Given the description of an element on the screen output the (x, y) to click on. 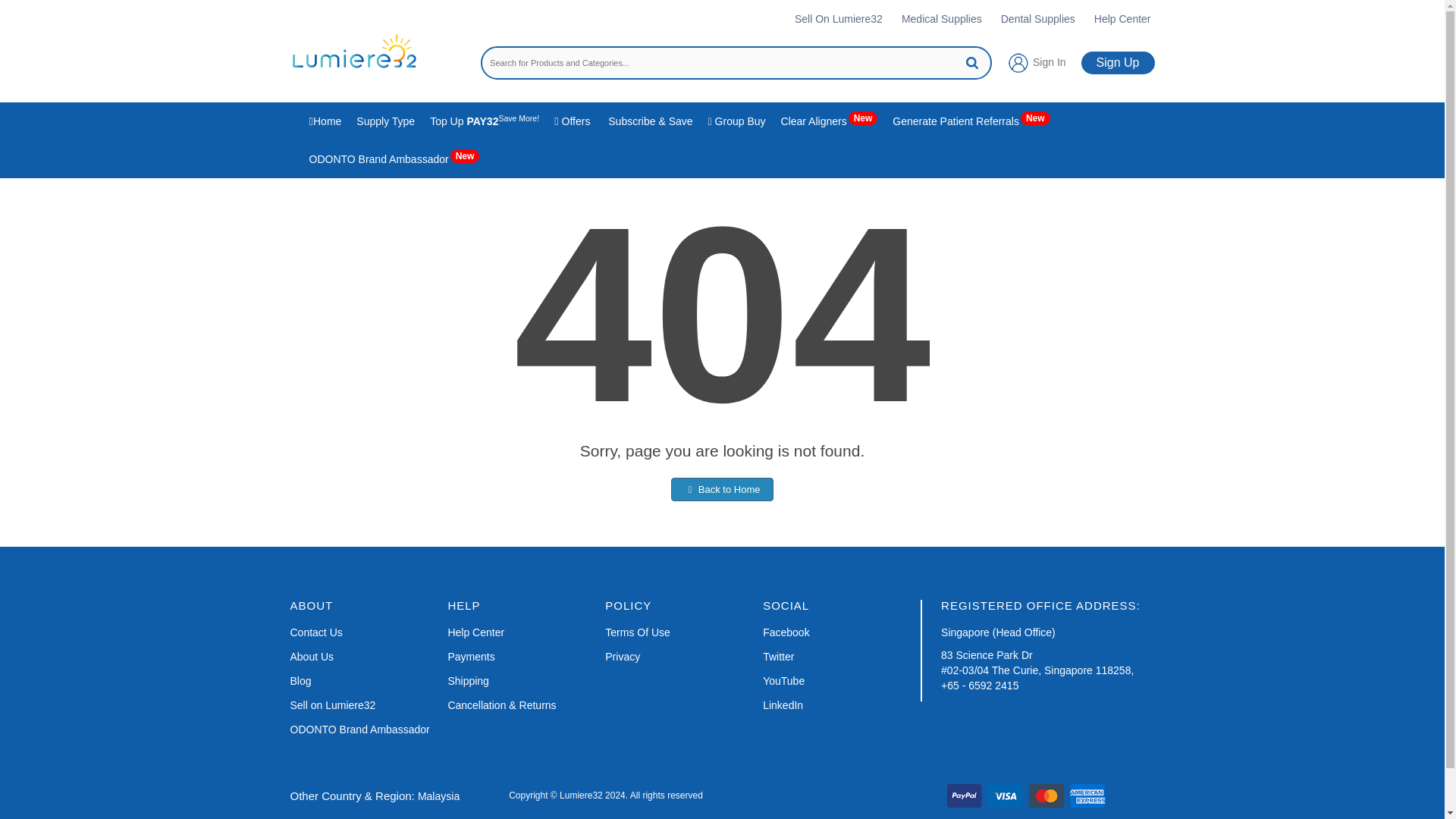
Clear AlignersNew (829, 121)
ODONTO Brand Ambassador (359, 729)
Top Up PAY32Save More! (484, 121)
Help Center (474, 632)
Home (325, 121)
Generate Patient ReferralsNew (971, 121)
 Offers (571, 121)
Back to Home (722, 489)
 Group Buy (736, 121)
Dental Supplies (1038, 18)
Medical Supplies (941, 18)
Sell on Lumiere32 (332, 705)
Blog (300, 681)
Payments (470, 657)
Sell On Lumiere32 (838, 18)
